Given the description of an element on the screen output the (x, y) to click on. 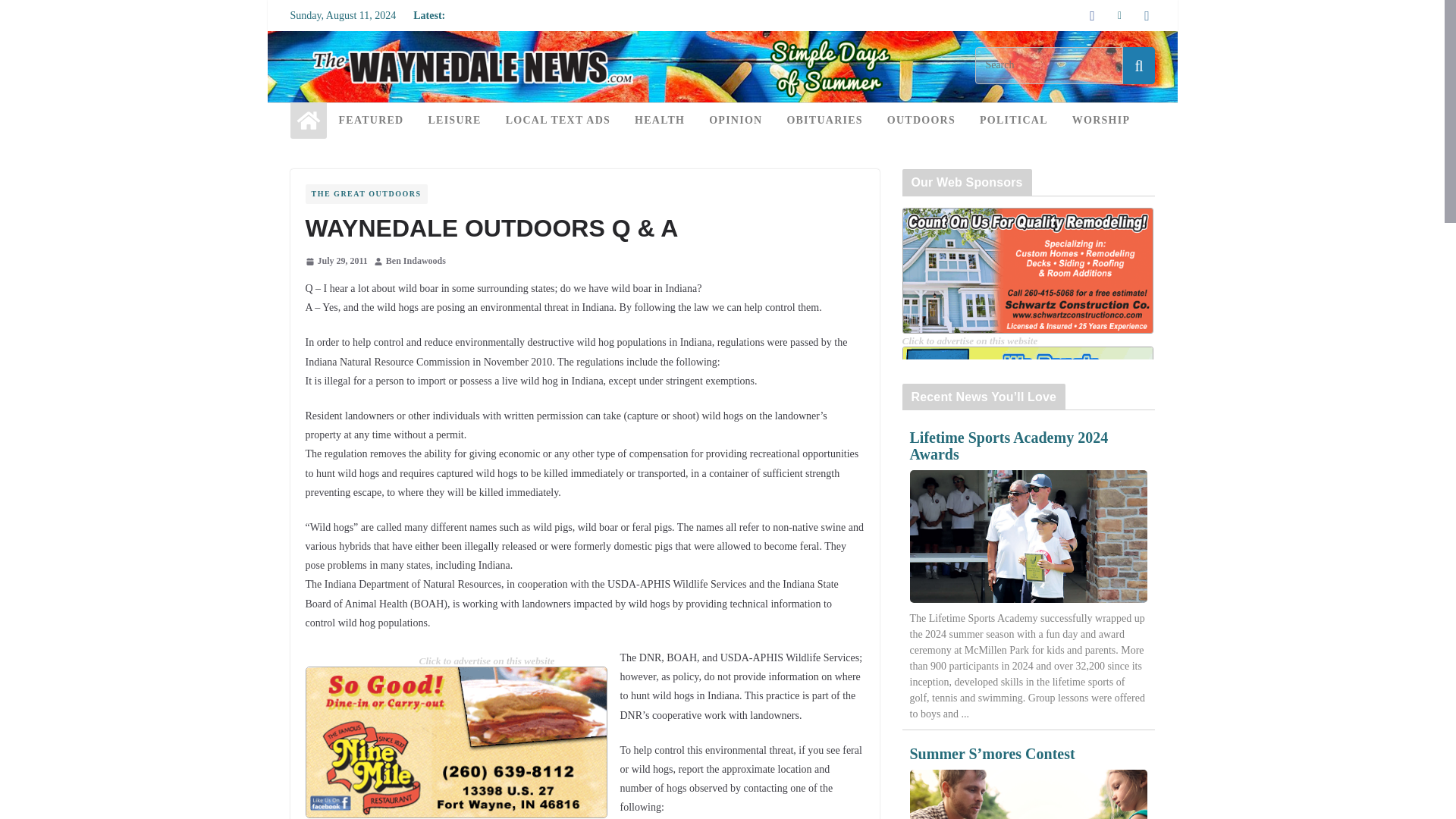
LEISURE (454, 120)
WORSHIP (1100, 120)
POLITICAL (1013, 120)
The Waynedale News (307, 120)
OPINION (735, 120)
THE GREAT OUTDOORS (365, 193)
July 29, 2011 (335, 261)
LOCAL TEXT ADS (557, 120)
FEATURED (370, 120)
Ben Indawoods (415, 261)
